Given the description of an element on the screen output the (x, y) to click on. 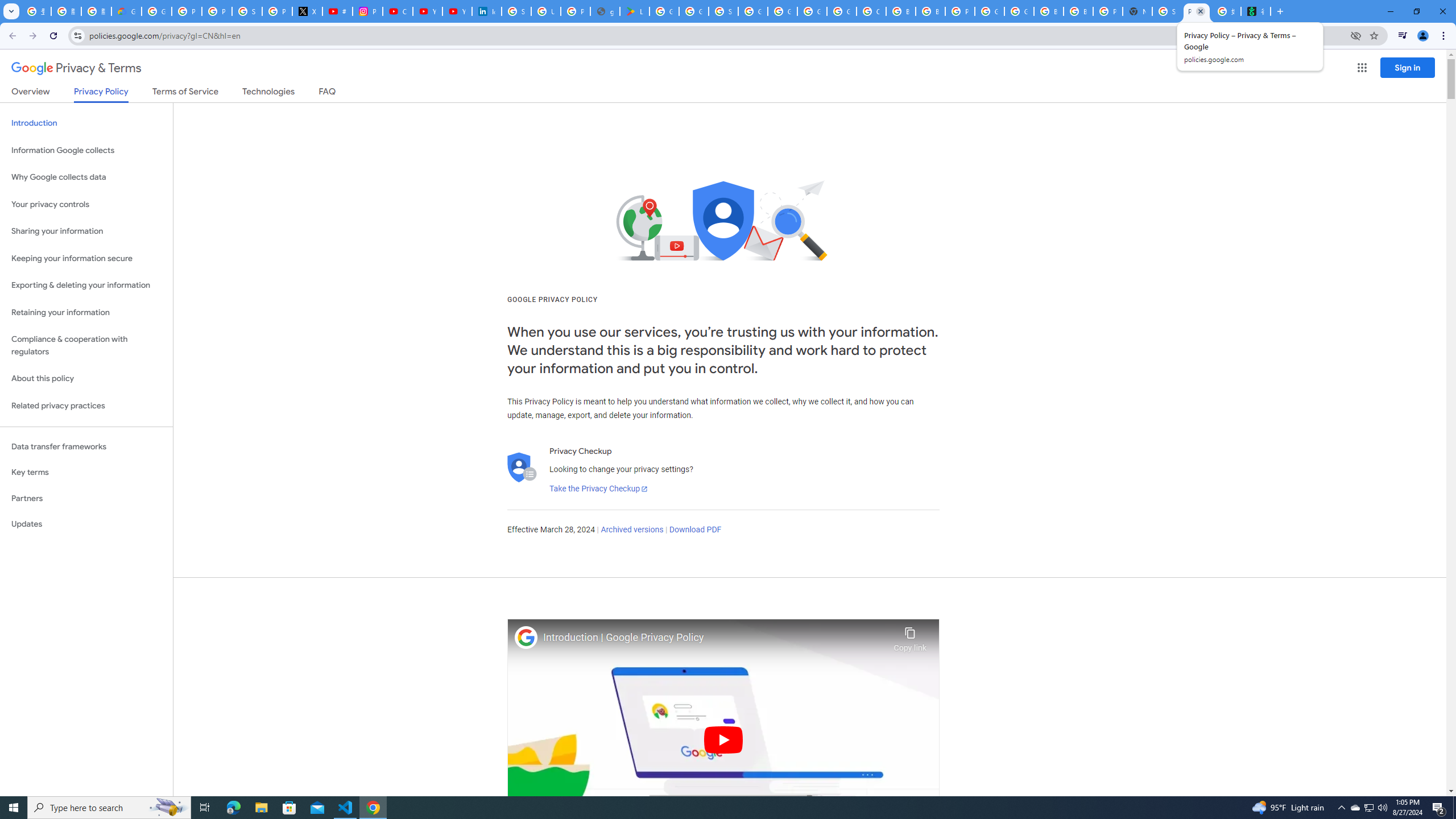
Google Cloud Platform (1018, 11)
Google Cloud Platform (989, 11)
Privacy Help Center - Policies Help (216, 11)
